Given the description of an element on the screen output the (x, y) to click on. 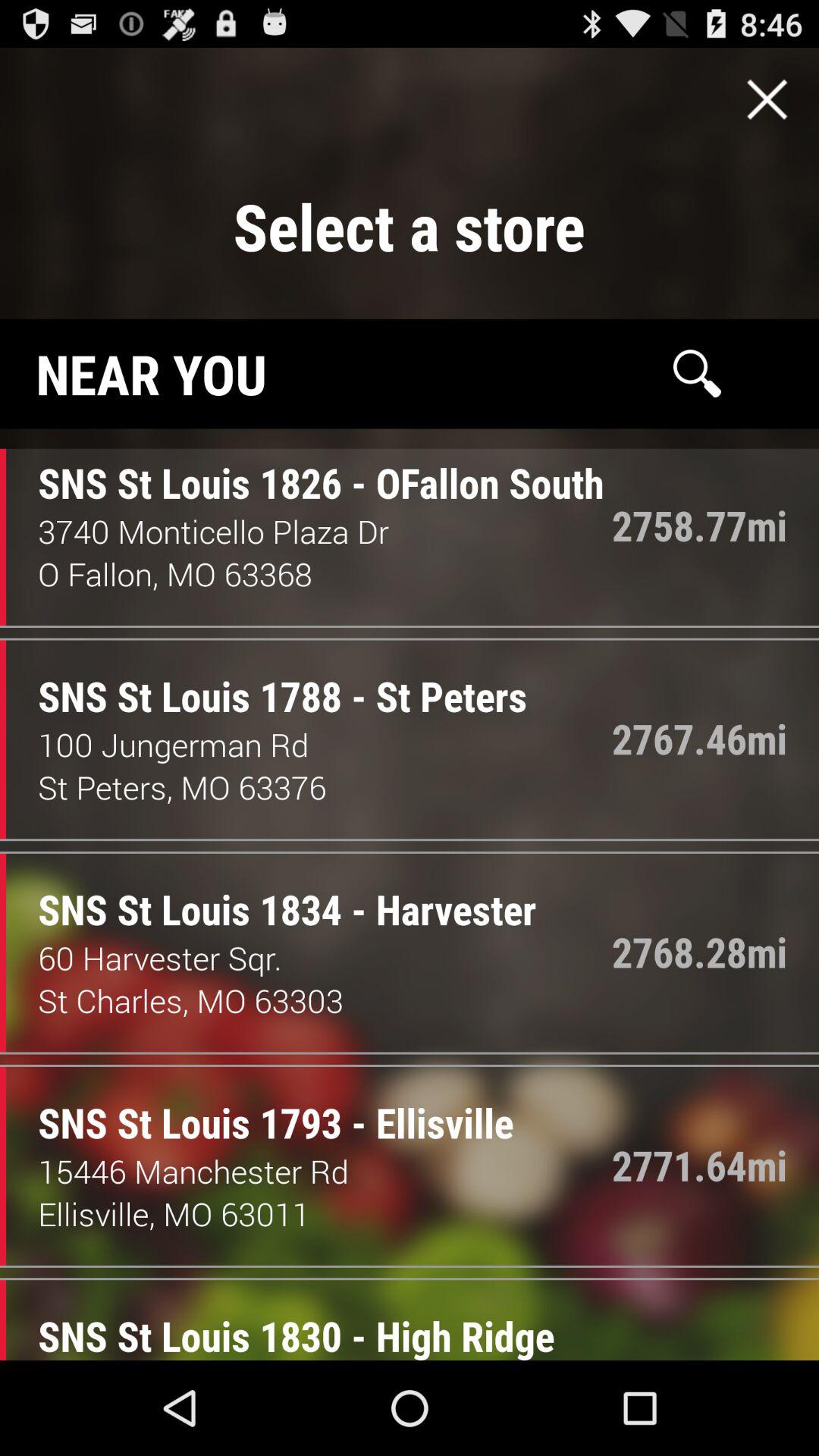
serce (697, 373)
